Given the description of an element on the screen output the (x, y) to click on. 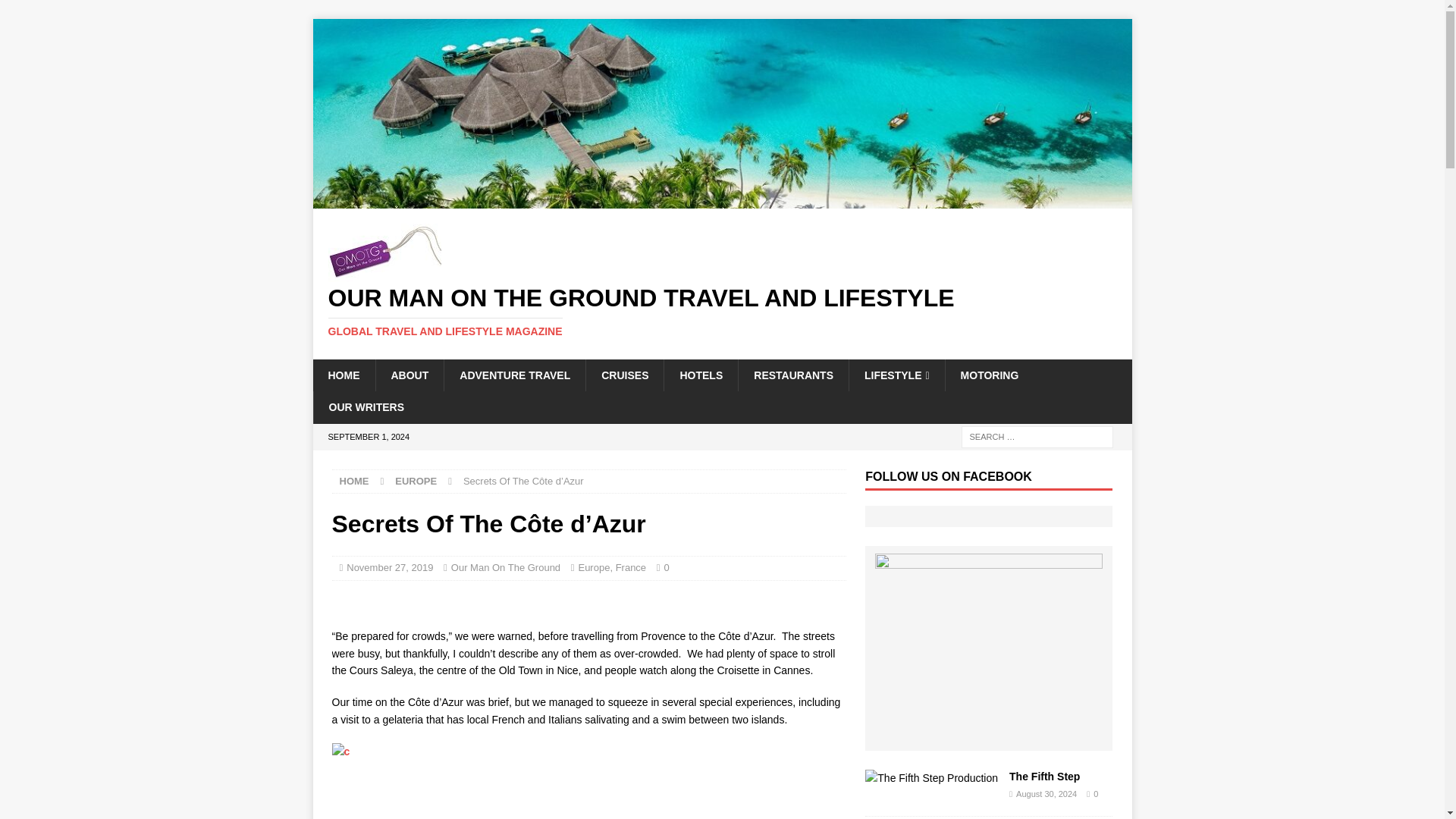
ABOUT (409, 375)
HOME (343, 375)
RESTAURANTS (793, 375)
MOTORING (988, 375)
LIFESTYLE (896, 375)
HOME (354, 480)
HOTELS (700, 375)
Search (56, 11)
EUROPE (415, 480)
